Given the description of an element on the screen output the (x, y) to click on. 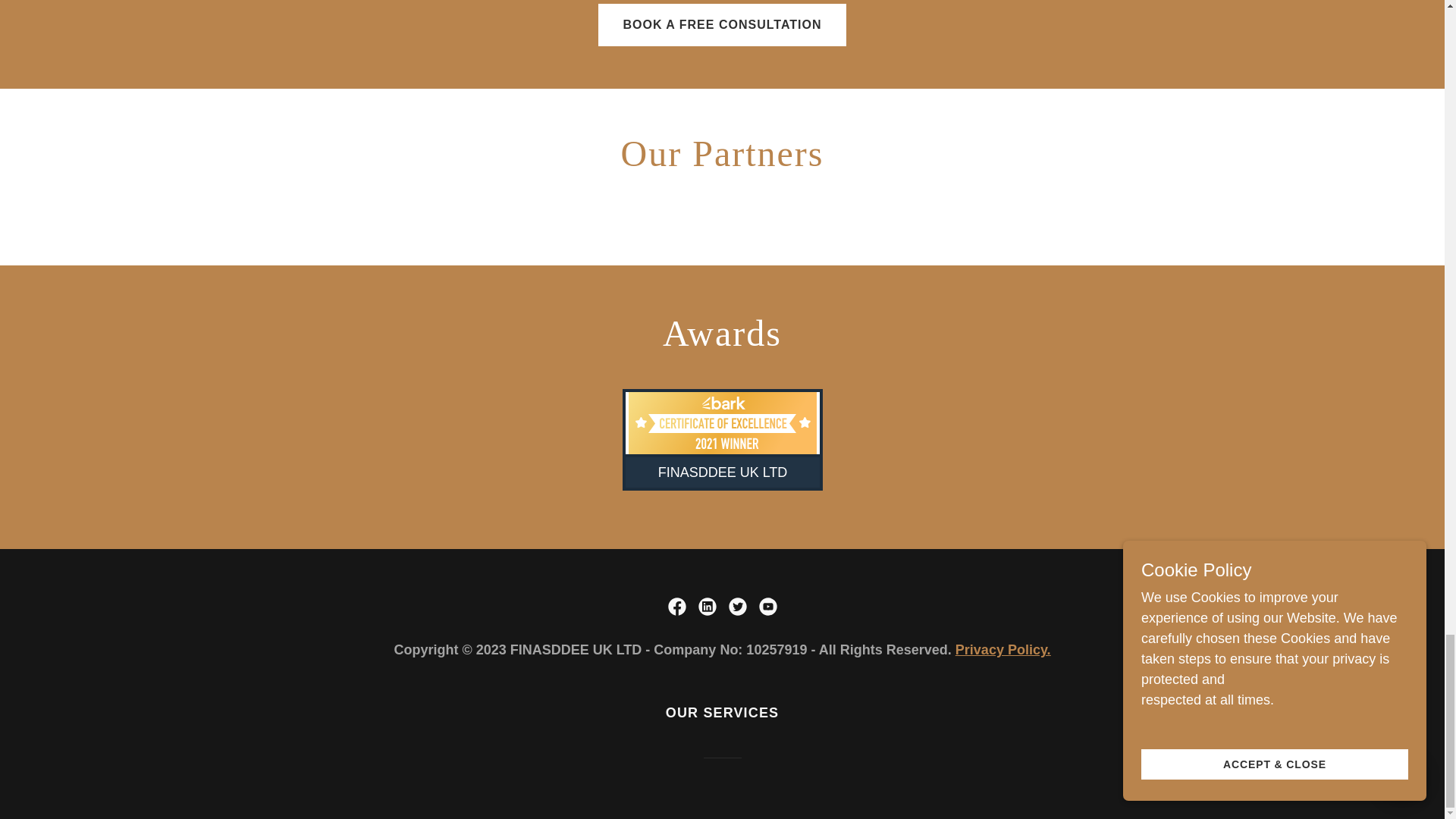
OUR SERVICES (721, 713)
Privacy Policy. (1003, 649)
BOOK A FREE CONSULTATION (721, 24)
